Given the description of an element on the screen output the (x, y) to click on. 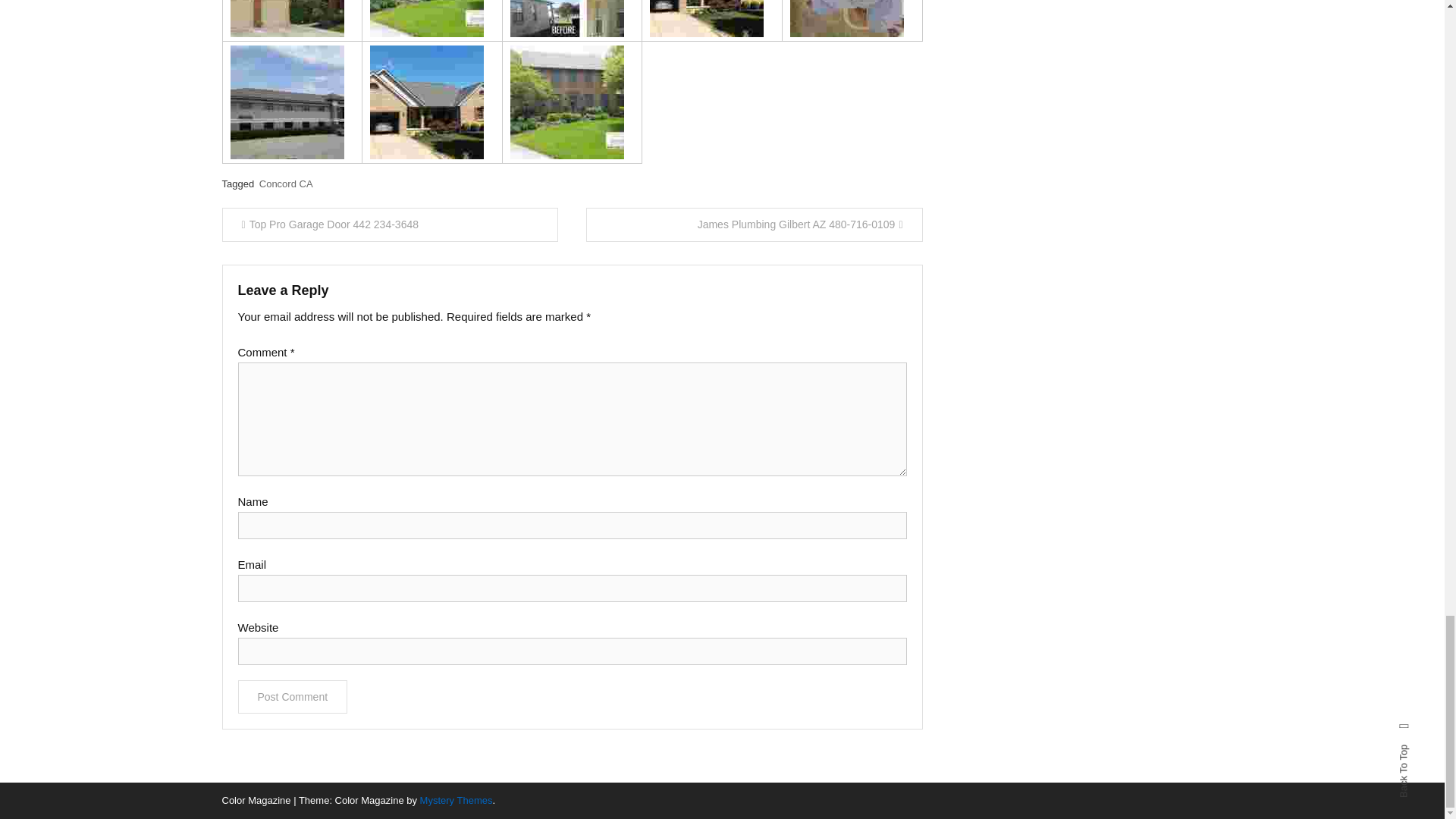
Post Comment (292, 696)
Golden Heights Remodeling INC   800-521-0950 (286, 18)
Golden Heights Remodeling INC   800-521-0950 (426, 18)
Golden Heights Remodeling INC   800-521-0950 (567, 18)
